Given the description of an element on the screen output the (x, y) to click on. 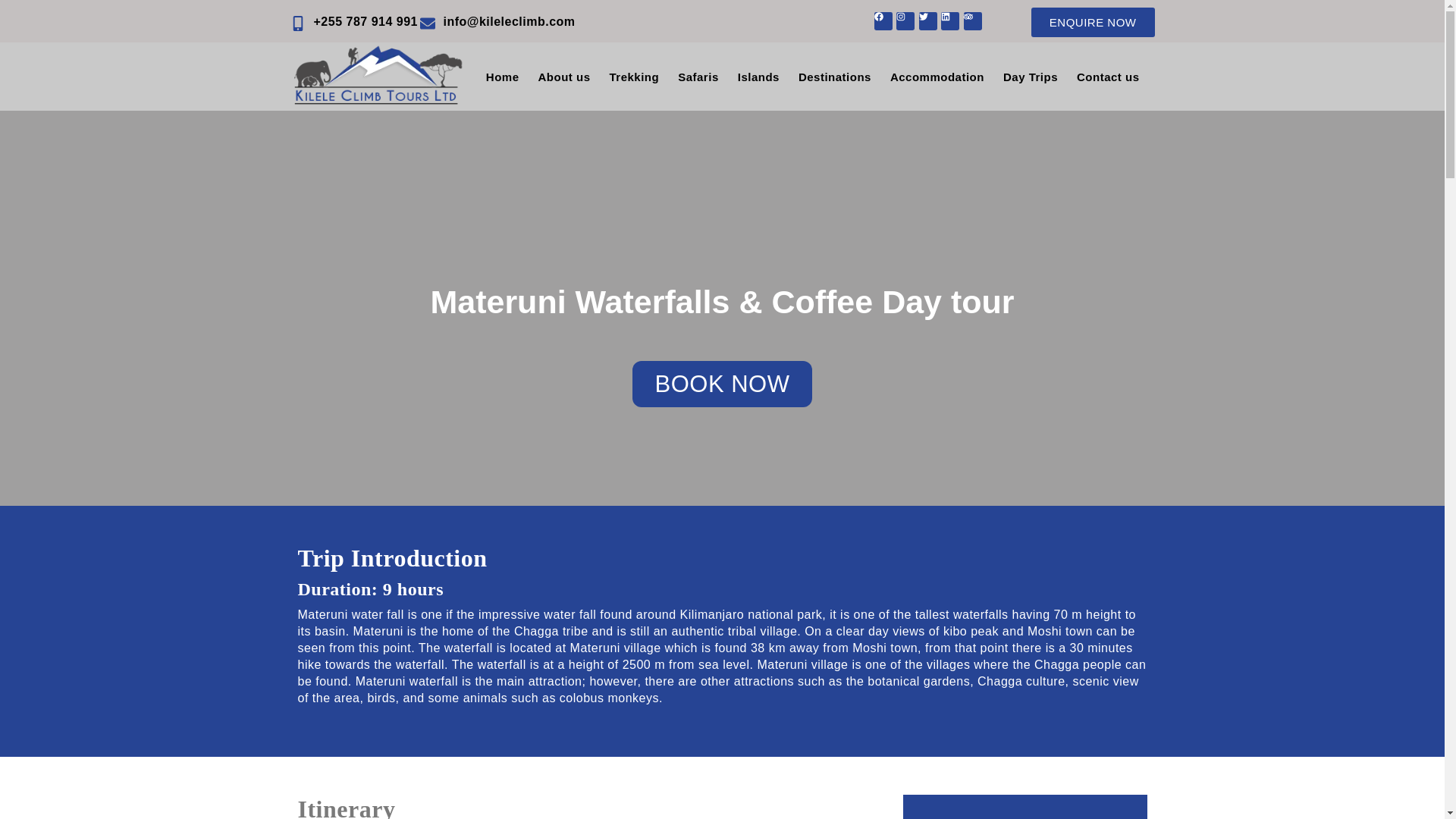
Home (502, 76)
ENQUIRE NOW (1092, 21)
Trekking (634, 76)
About us (563, 76)
